Given the description of an element on the screen output the (x, y) to click on. 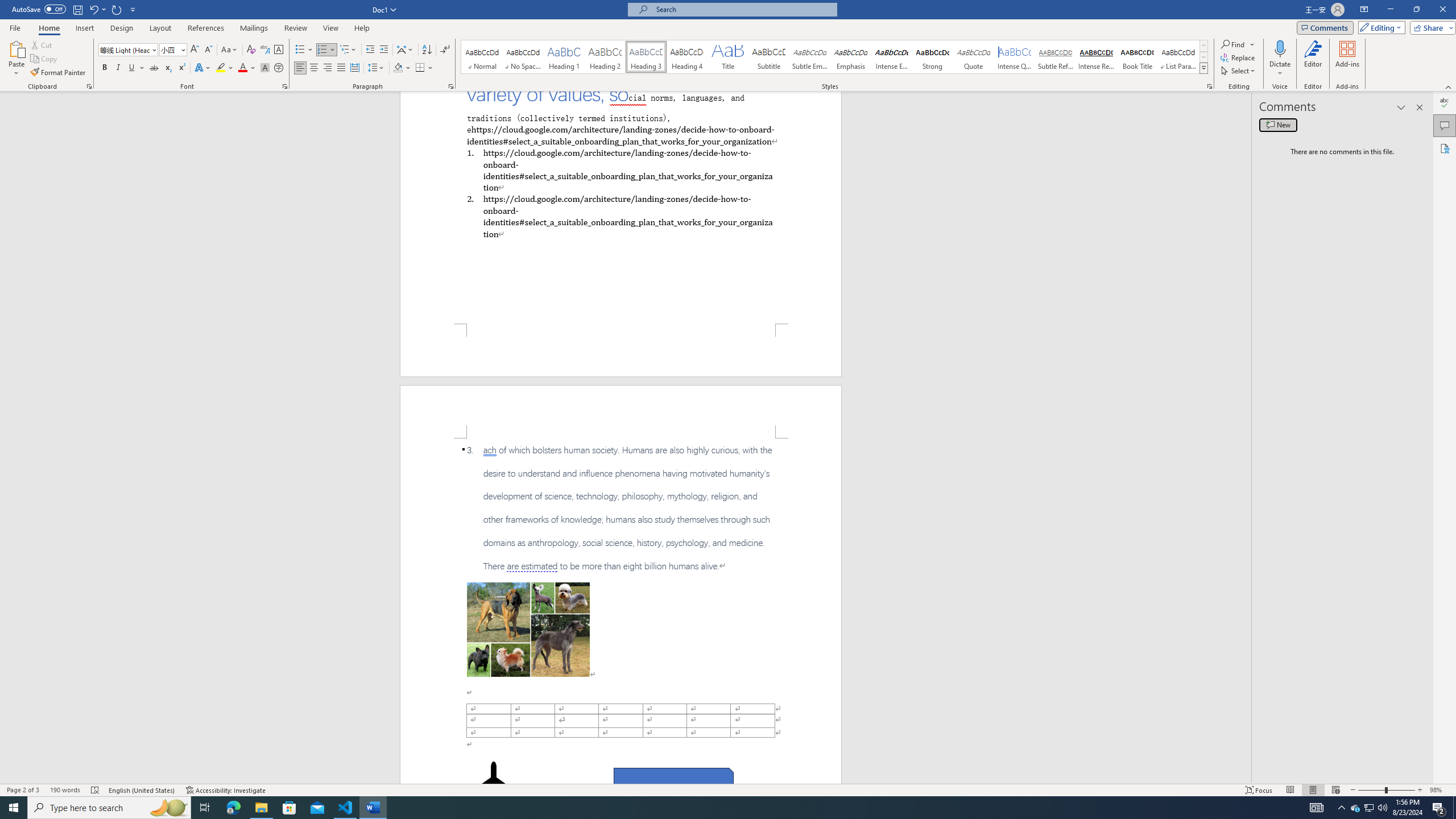
Language English (United States) (141, 790)
Subscript (167, 67)
Row Down (1203, 56)
Heading 2 (605, 56)
Bold (104, 67)
Font Color Blue-Gray, Text 2 (241, 67)
Styles (1203, 67)
Multilevel List (347, 49)
Page 2 content (620, 610)
